Given the description of an element on the screen output the (x, y) to click on. 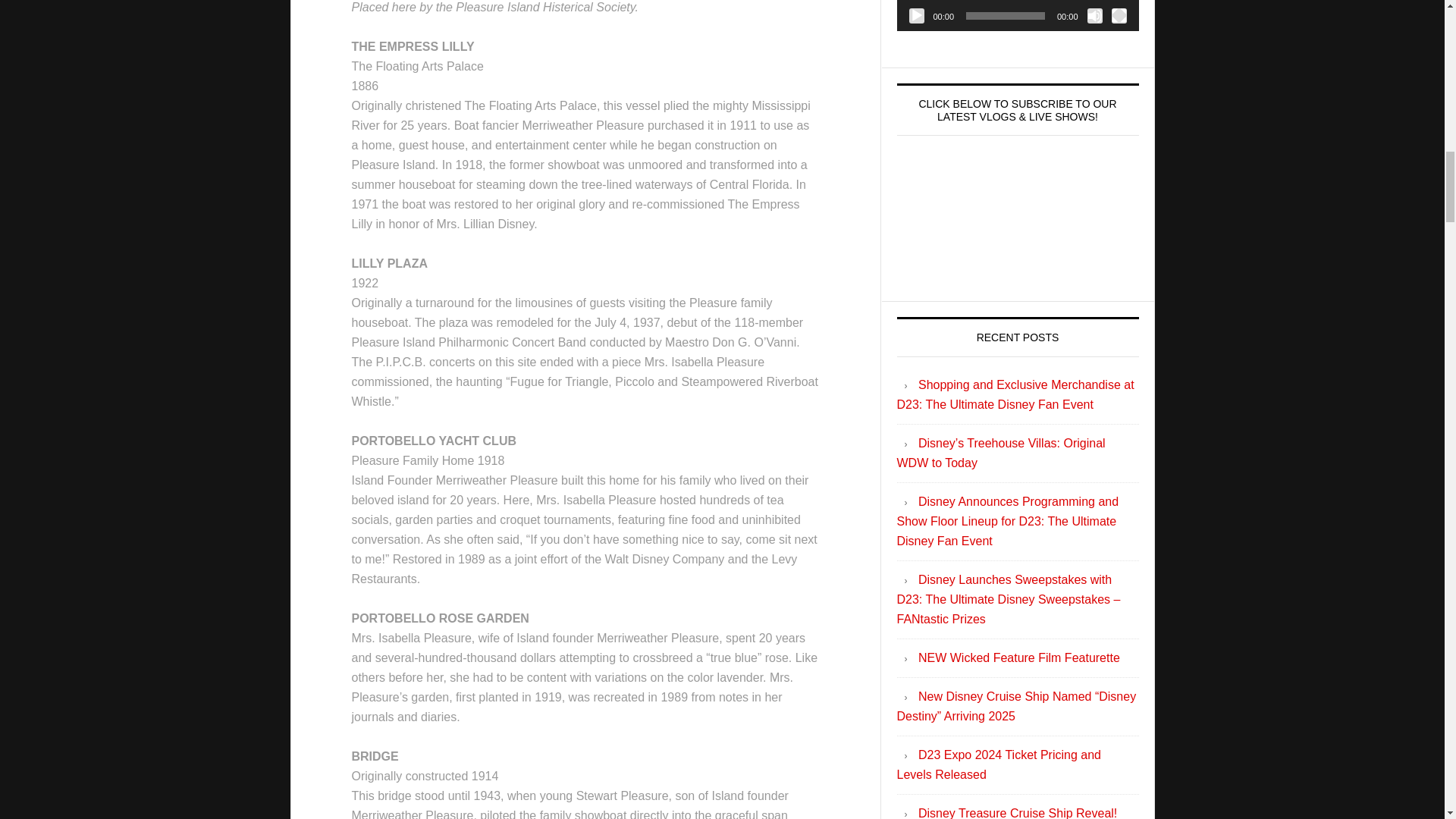
Mute (1094, 15)
Fullscreen (1119, 15)
Play (915, 15)
